Given the description of an element on the screen output the (x, y) to click on. 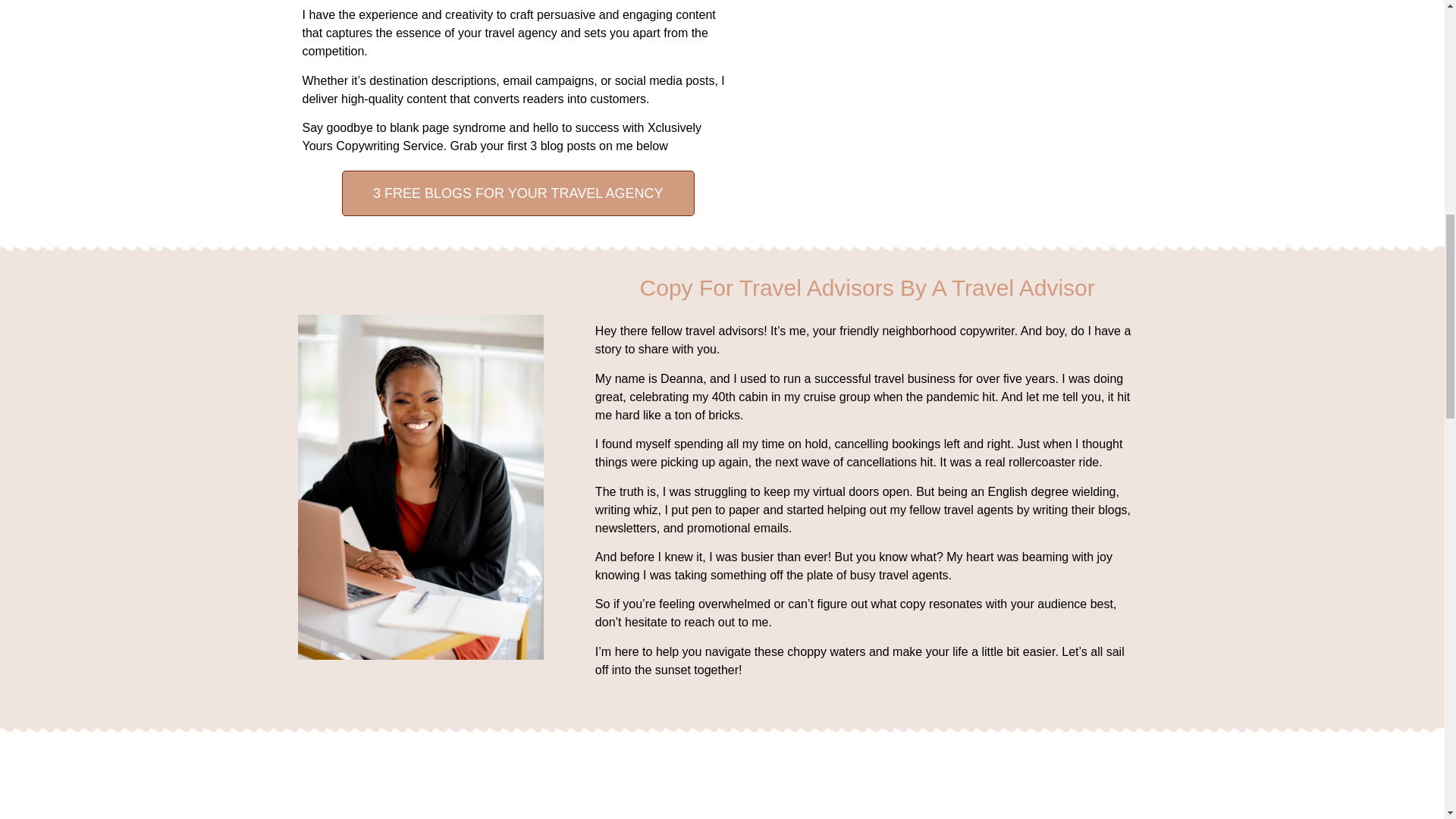
3 FREE BLOGS FOR YOUR TRAVEL AGENCY (518, 193)
